Given the description of an element on the screen output the (x, y) to click on. 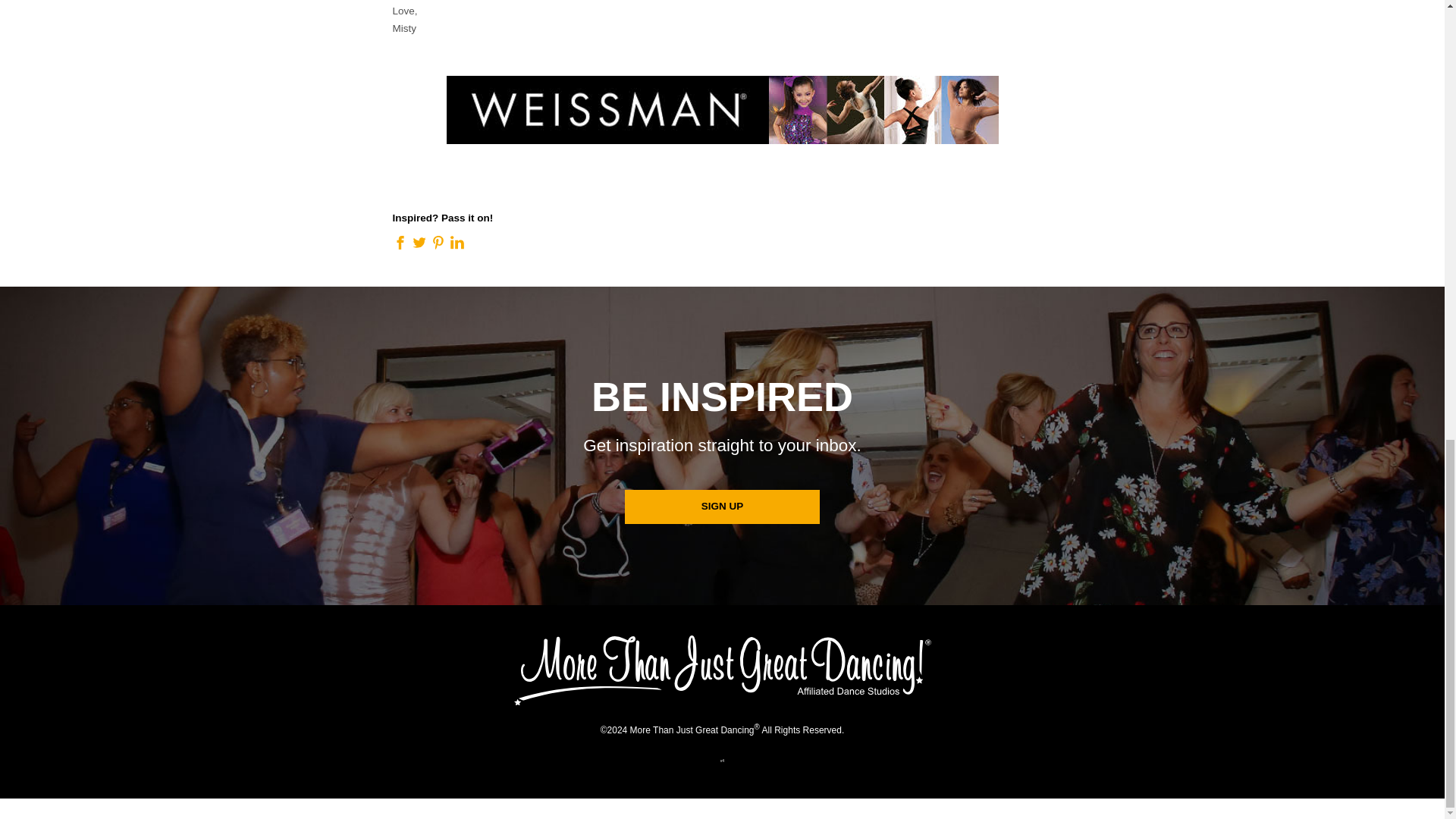
SIGN UP (722, 506)
